Given the description of an element on the screen output the (x, y) to click on. 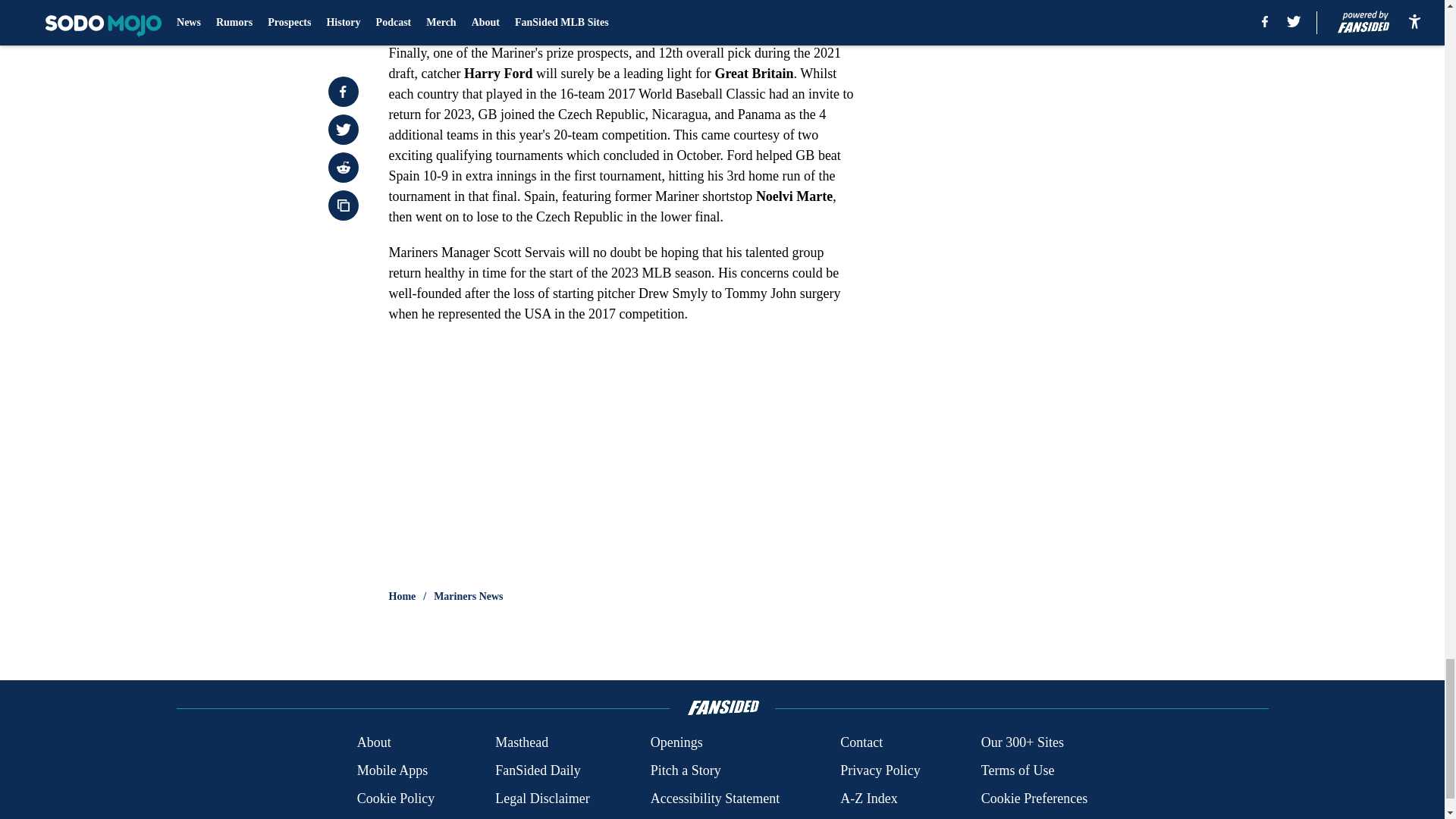
Pitch a Story (685, 770)
Openings (676, 742)
Masthead (521, 742)
Mariners News (467, 596)
Mobile Apps (392, 770)
Contact (861, 742)
FanSided Daily (537, 770)
About (373, 742)
Home (401, 596)
